Given the description of an element on the screen output the (x, y) to click on. 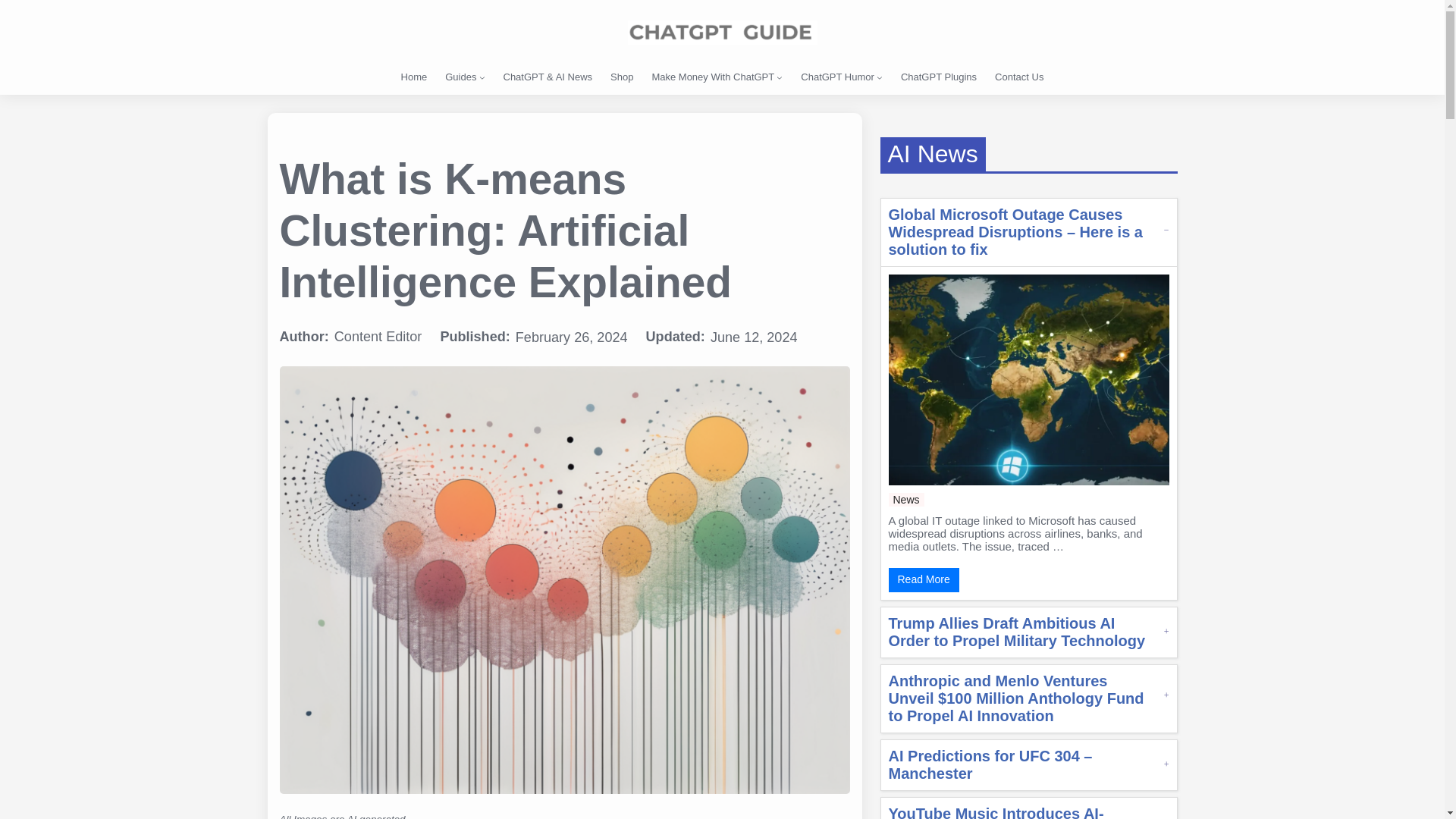
News (906, 499)
Make Money With ChatGPT (712, 76)
Guides (460, 76)
Home (414, 76)
Shop (621, 76)
Read More (923, 580)
News (906, 499)
ChatGPT Humor (837, 76)
Contact Us (1018, 76)
ChatGPT Plugins (938, 76)
